Given the description of an element on the screen output the (x, y) to click on. 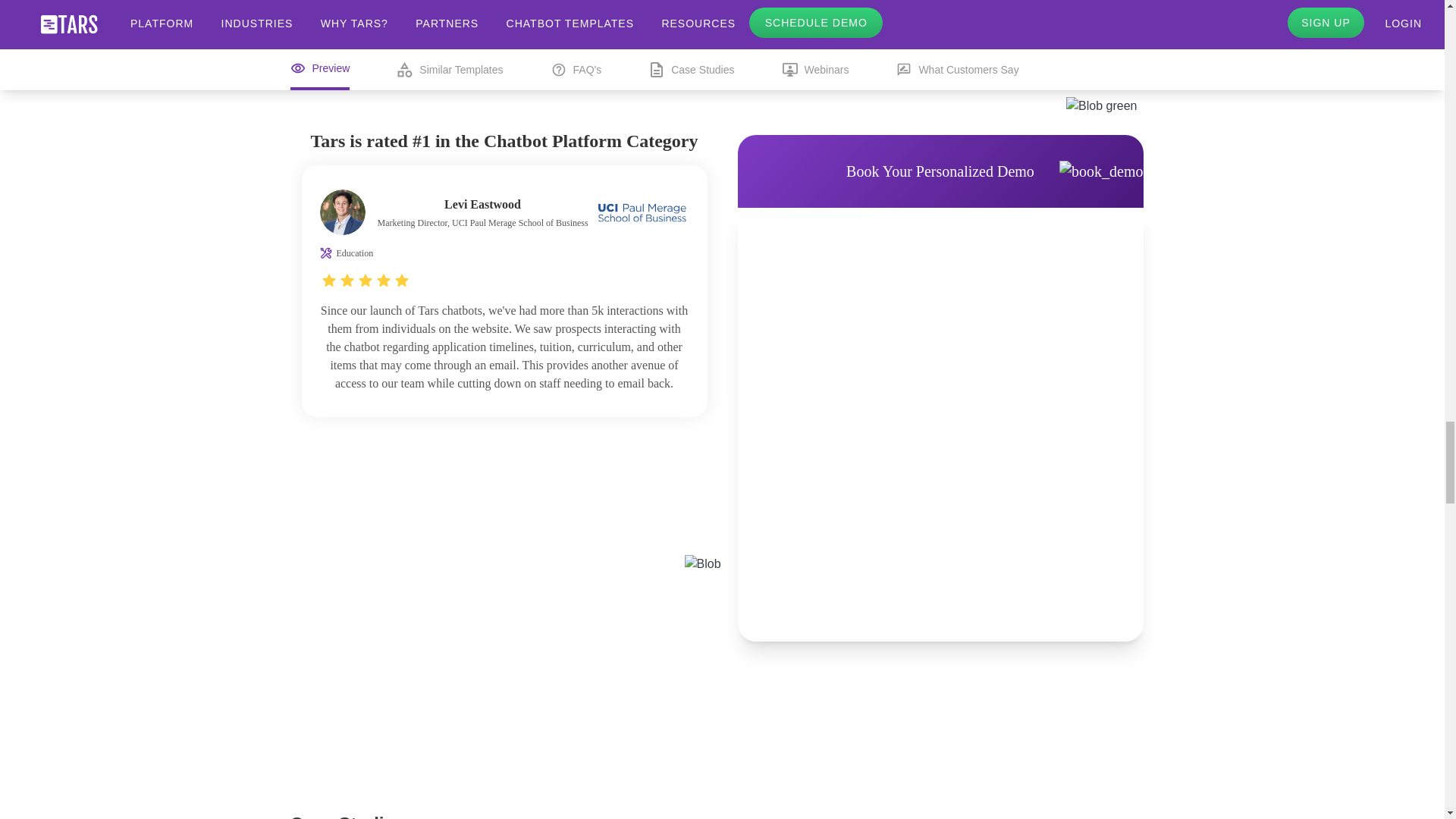
Form 0 (939, 424)
